Given the description of an element on the screen output the (x, y) to click on. 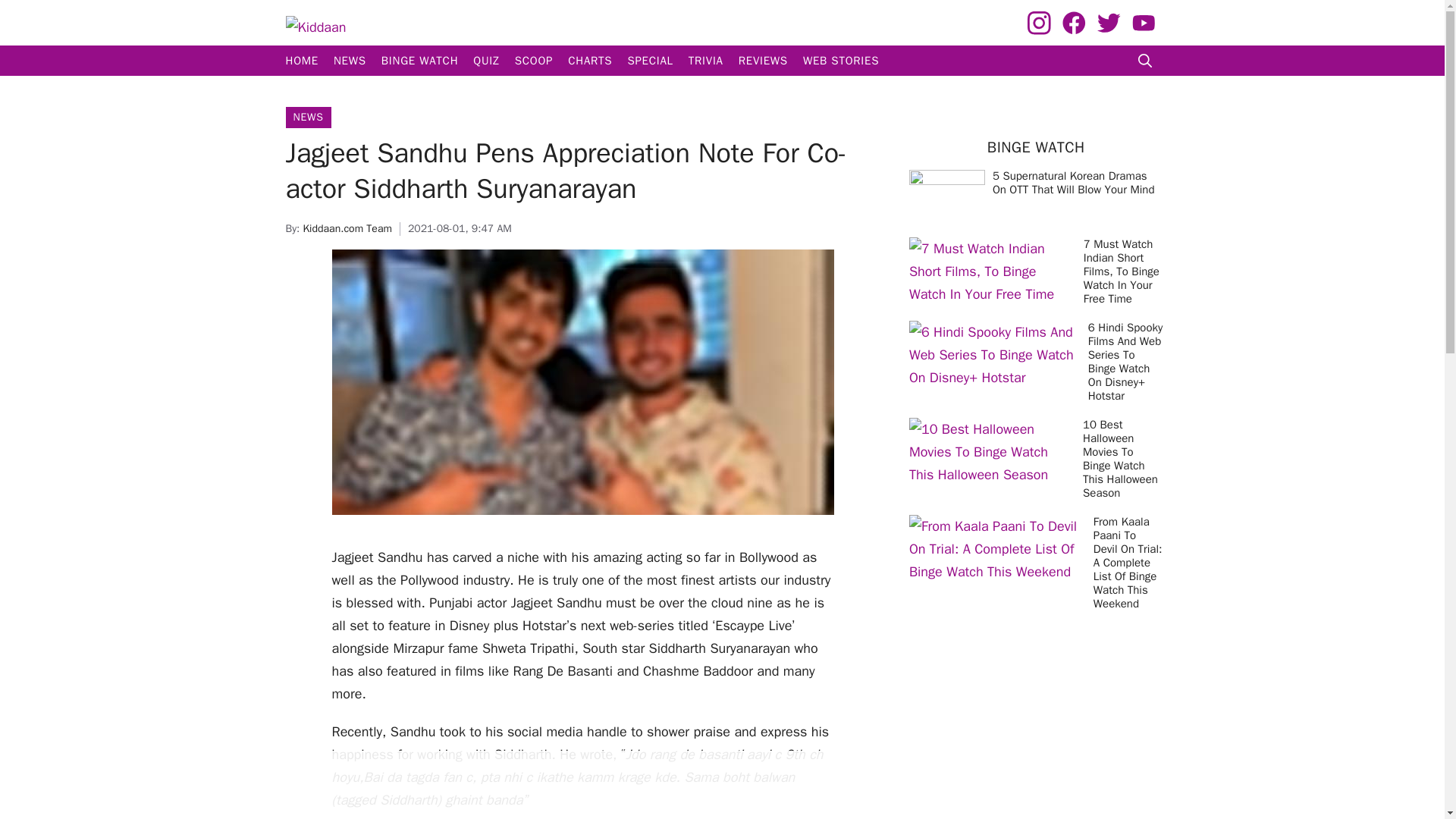
HOME (301, 60)
BINGE WATCH (419, 60)
NEWS (307, 116)
Kiddaan.com Team (346, 228)
SPECIAL (649, 60)
CHARTS (590, 60)
QUIZ (485, 60)
WEB STORIES (840, 60)
TRIVIA (705, 60)
REVIEWS (762, 60)
SCOOP (533, 60)
NEWS (350, 60)
